Given the description of an element on the screen output the (x, y) to click on. 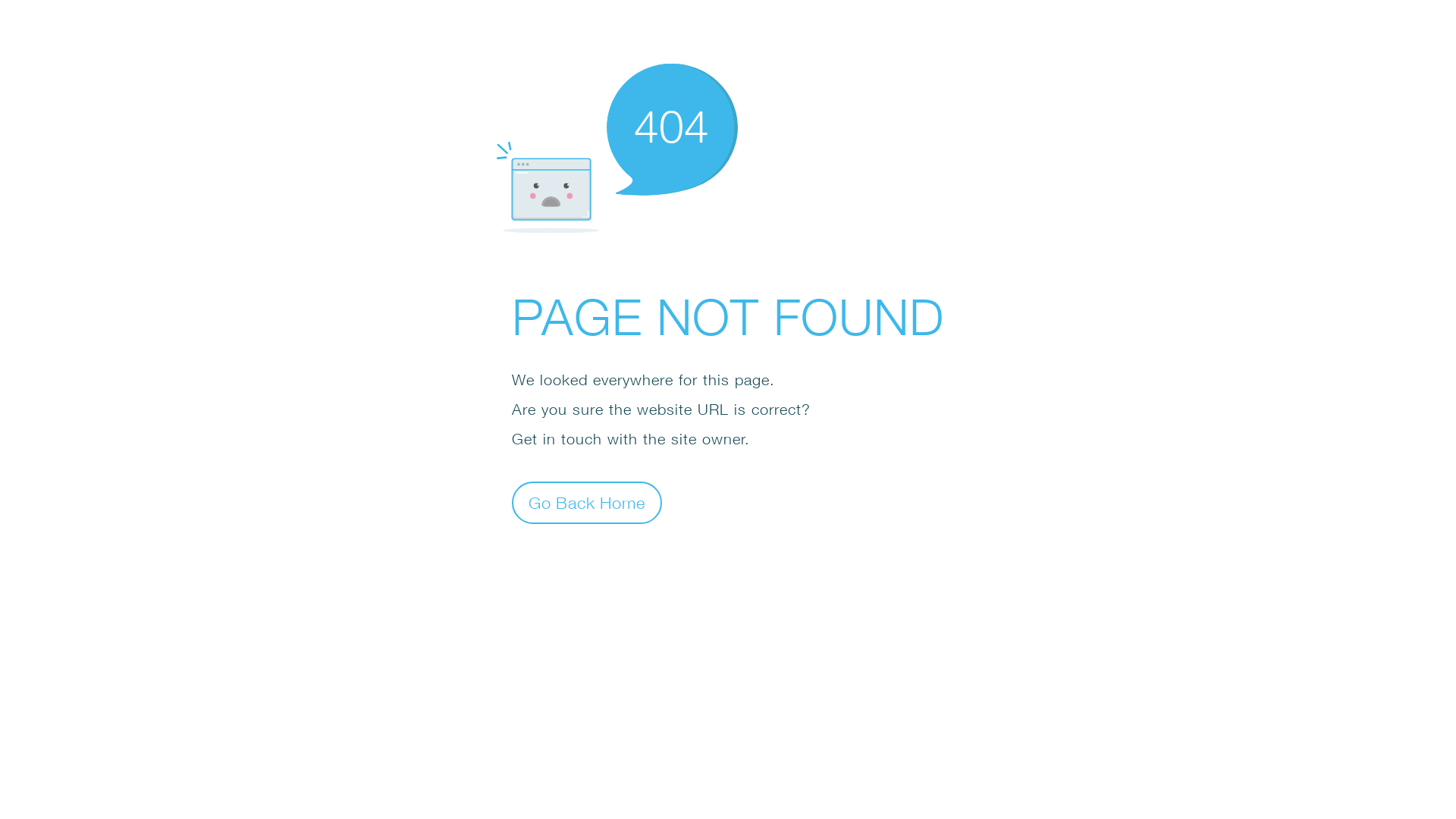
Go Back Home Element type: text (586, 502)
